Given the description of an element on the screen output the (x, y) to click on. 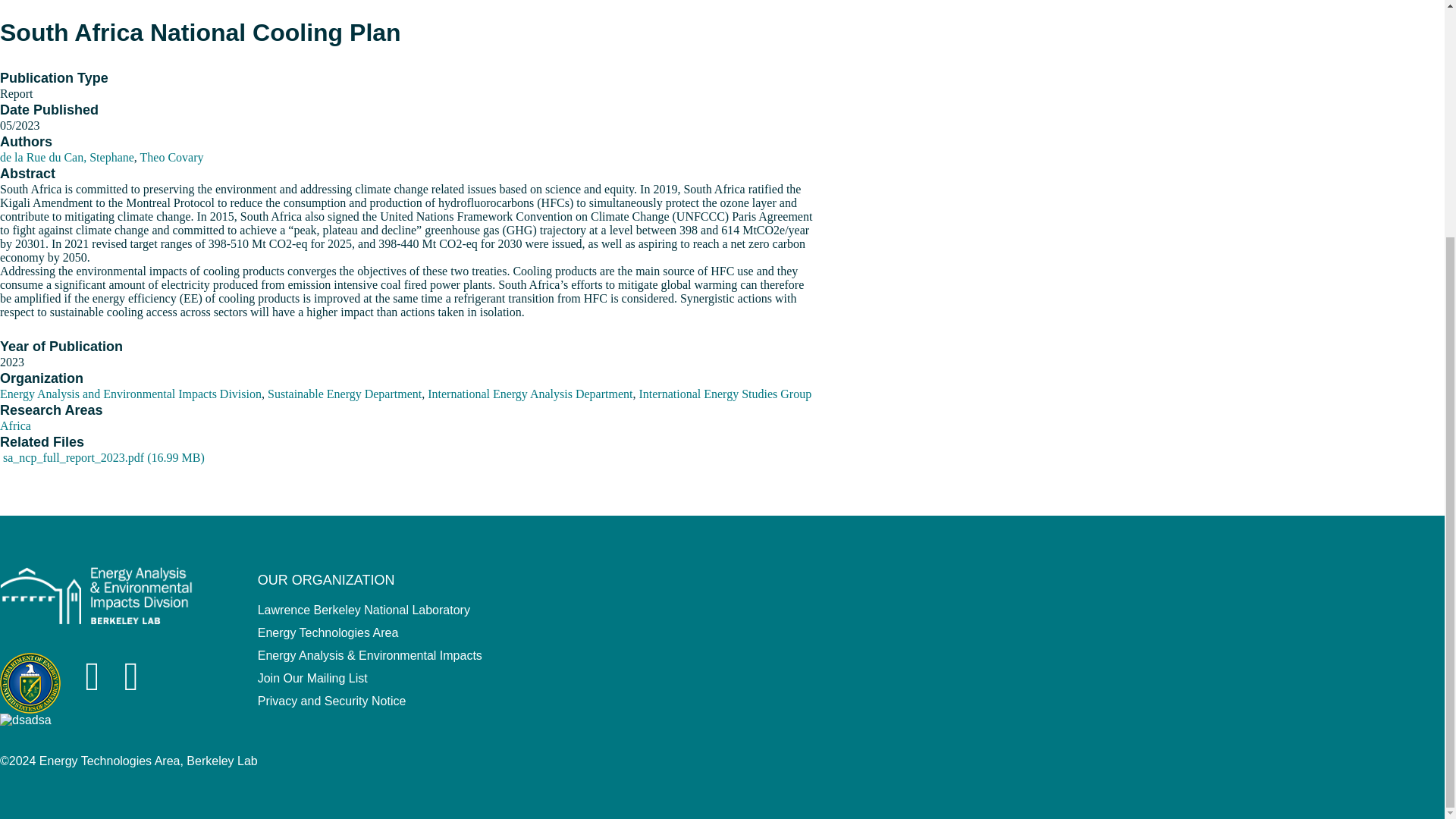
de la Rue du Can, Stephane (66, 156)
Lawrence Berkeley National Laboratory (363, 609)
Energy Analysis and Environmental Impacts Division (131, 393)
International Energy Studies Group (724, 393)
Theo Covary (171, 156)
Sustainable Energy Department (344, 393)
Africa (15, 425)
International Energy Analysis Department (529, 393)
